Given the description of an element on the screen output the (x, y) to click on. 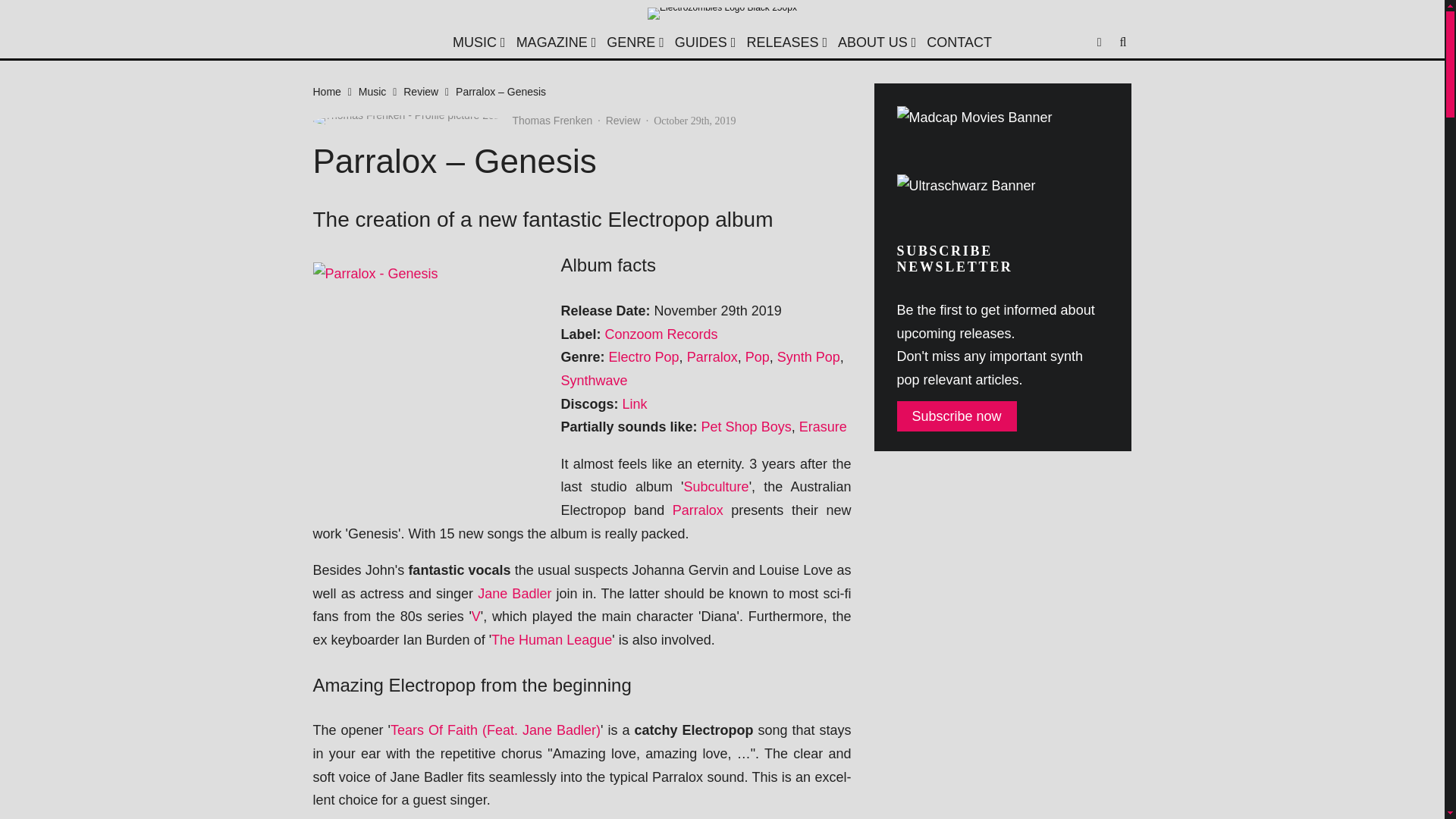
Erasure (823, 426)
MAGAZINE (556, 42)
Conzoom Records (661, 334)
Pet Shop Boys (746, 426)
MUSIC (478, 42)
GENRE (635, 42)
Visit Madcap Movies now! (973, 117)
GUIDES (705, 42)
The Human League (551, 639)
Parralox (697, 509)
